Given the description of an element on the screen output the (x, y) to click on. 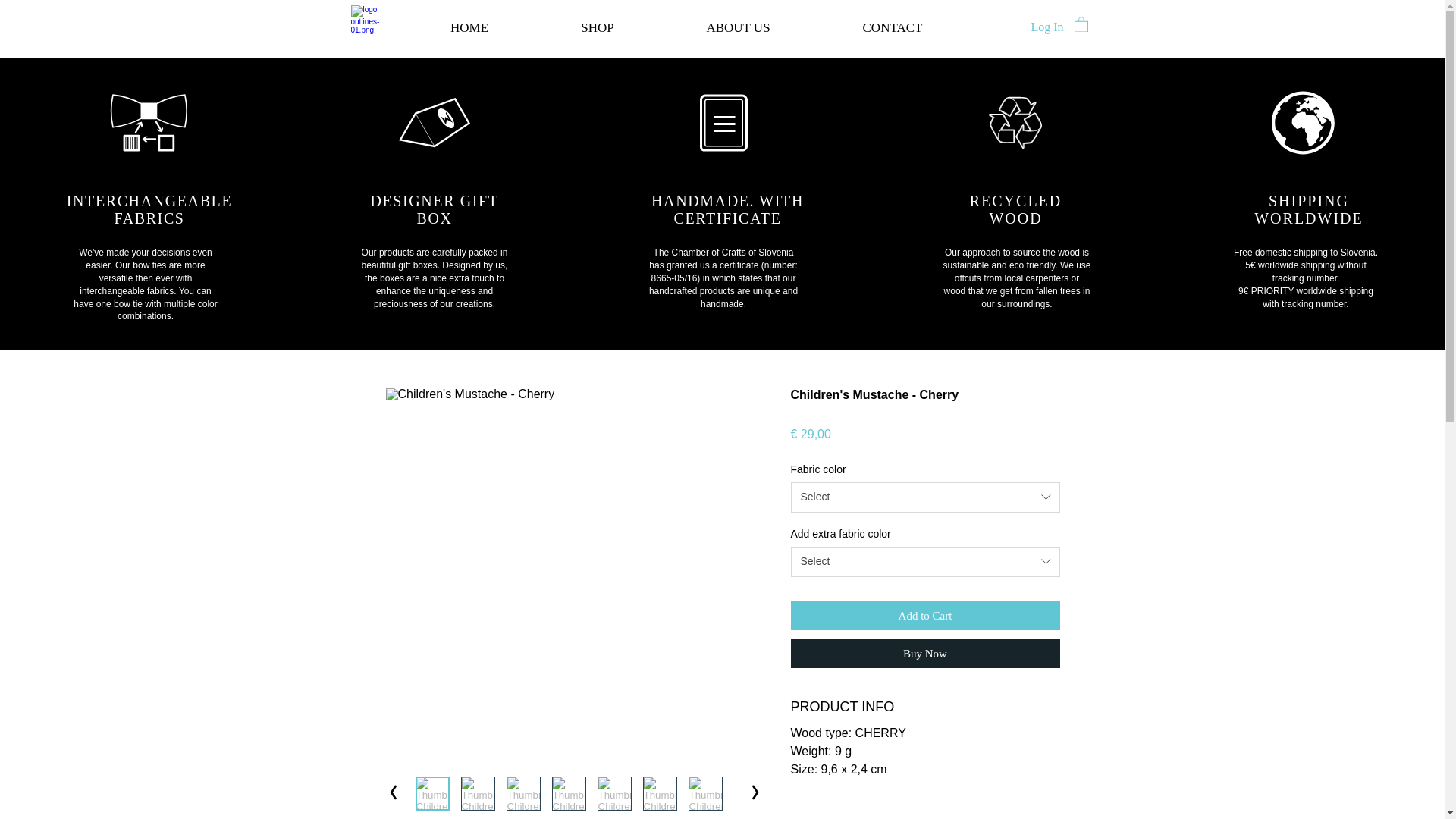
Log In (1047, 27)
CONTACT (891, 27)
SHOP (598, 27)
HOME (468, 27)
ABOUT US (737, 27)
